Given the description of an element on the screen output the (x, y) to click on. 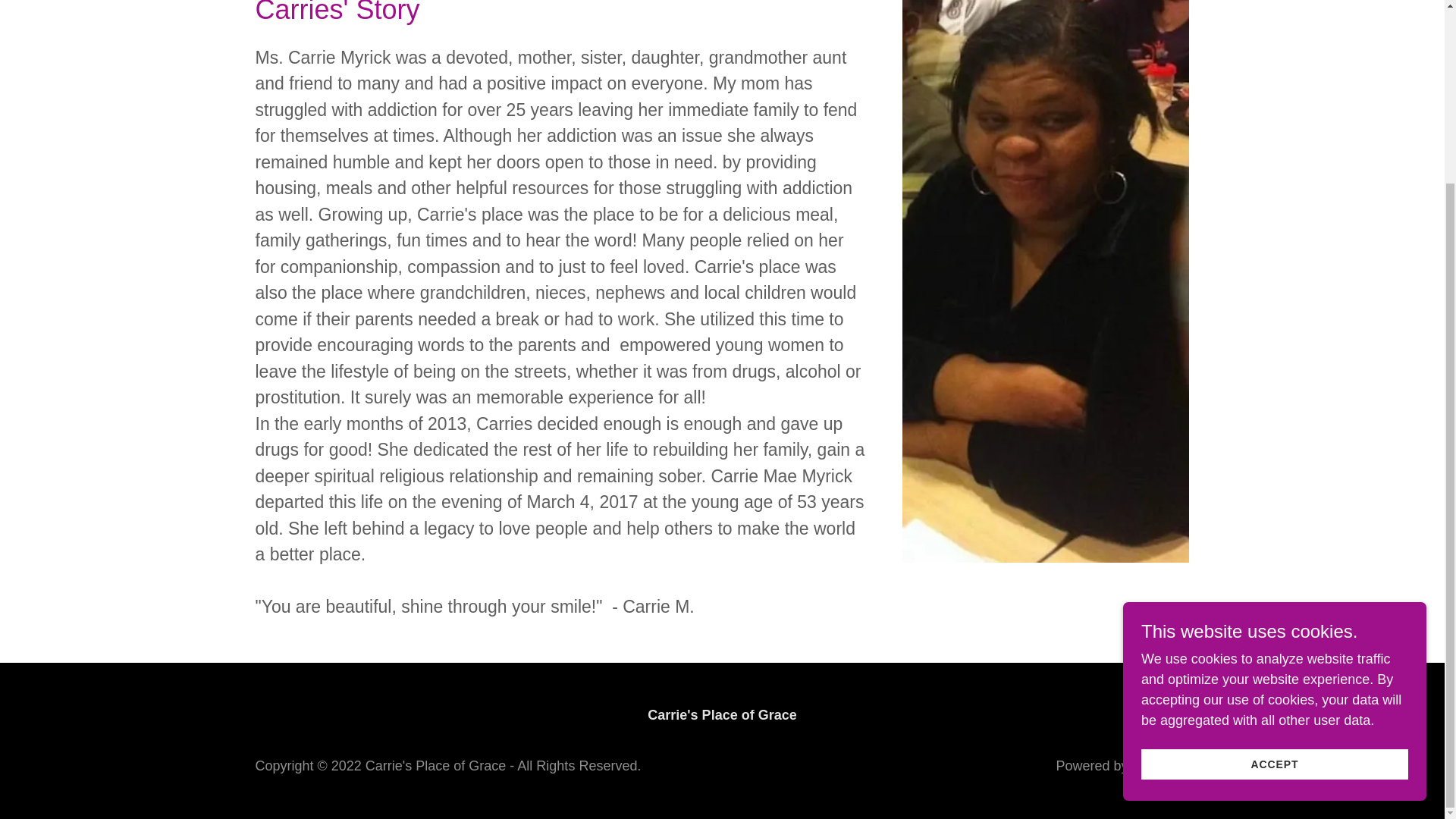
ACCEPT (1274, 538)
GoDaddy (1160, 765)
